Given the description of an element on the screen output the (x, y) to click on. 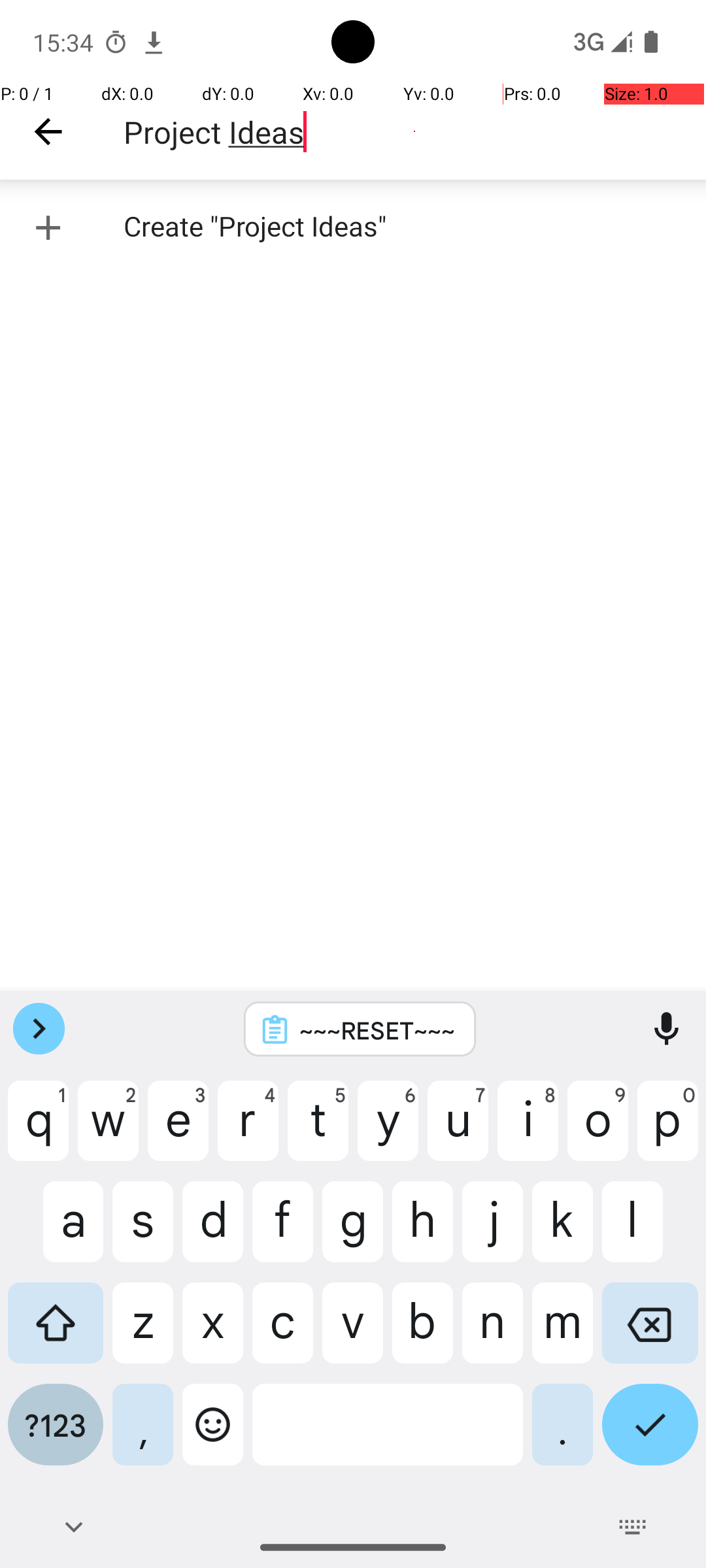
Project Ideas Element type: android.widget.EditText (414, 131)
Create "Project Ideas" Element type: android.widget.TextView (353, 227)
